Given the description of an element on the screen output the (x, y) to click on. 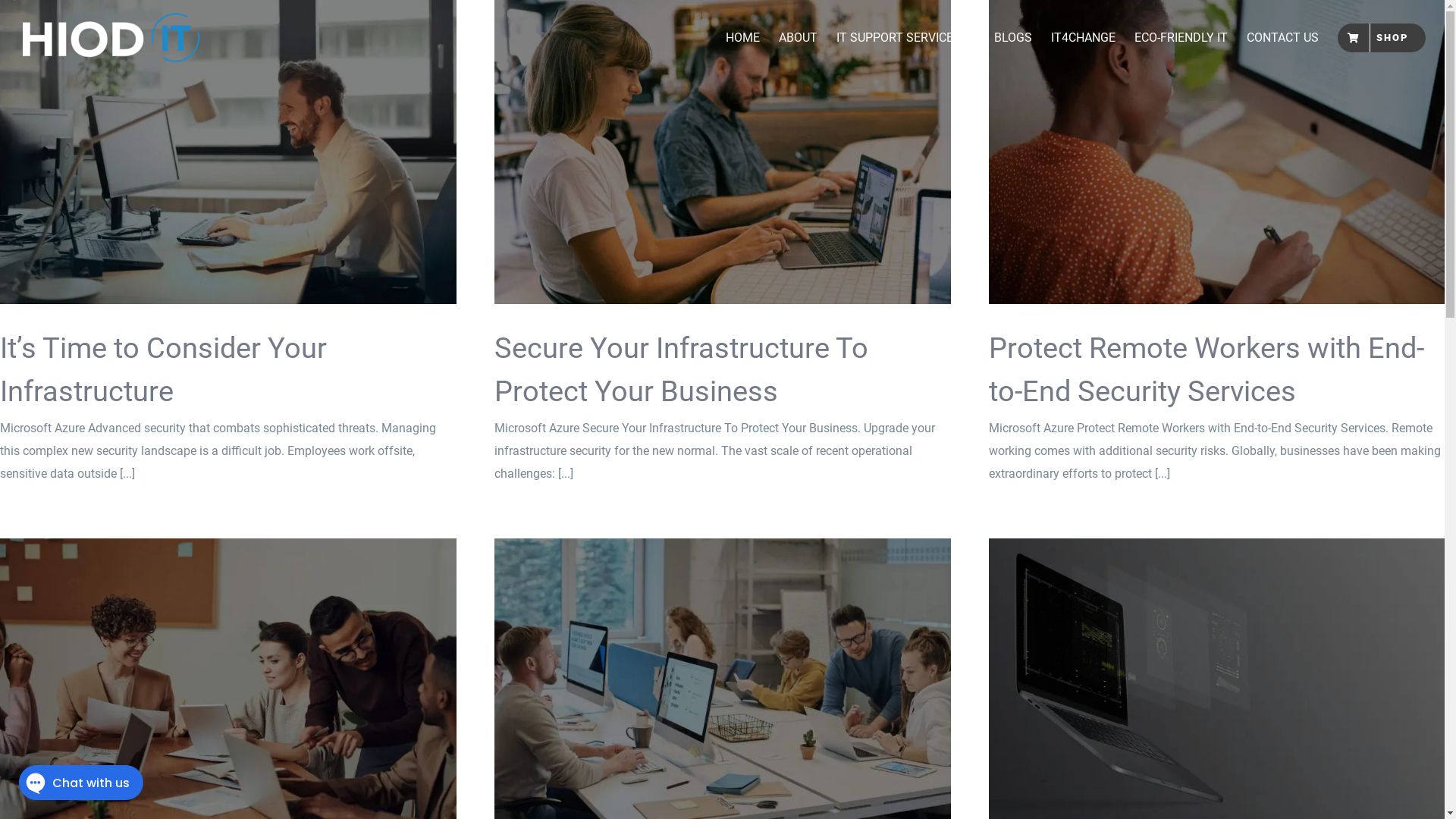
Secure Your Infrastructure To Protect Your Business Element type: text (681, 369)
HOME Element type: text (742, 37)
IT4CHANGE Element type: text (1083, 37)
BLOGS Element type: text (1013, 37)
ECO-FRIENDLY IT Element type: text (1180, 37)
CONTACT US Element type: text (1282, 37)
ABOUT Element type: text (797, 37)
IT SUPPORT SERVICES Element type: text (905, 37)
SHOP Element type: text (1381, 37)
Protect Remote Workers with End-to-End Security Services Element type: text (1206, 369)
